Given the description of an element on the screen output the (x, y) to click on. 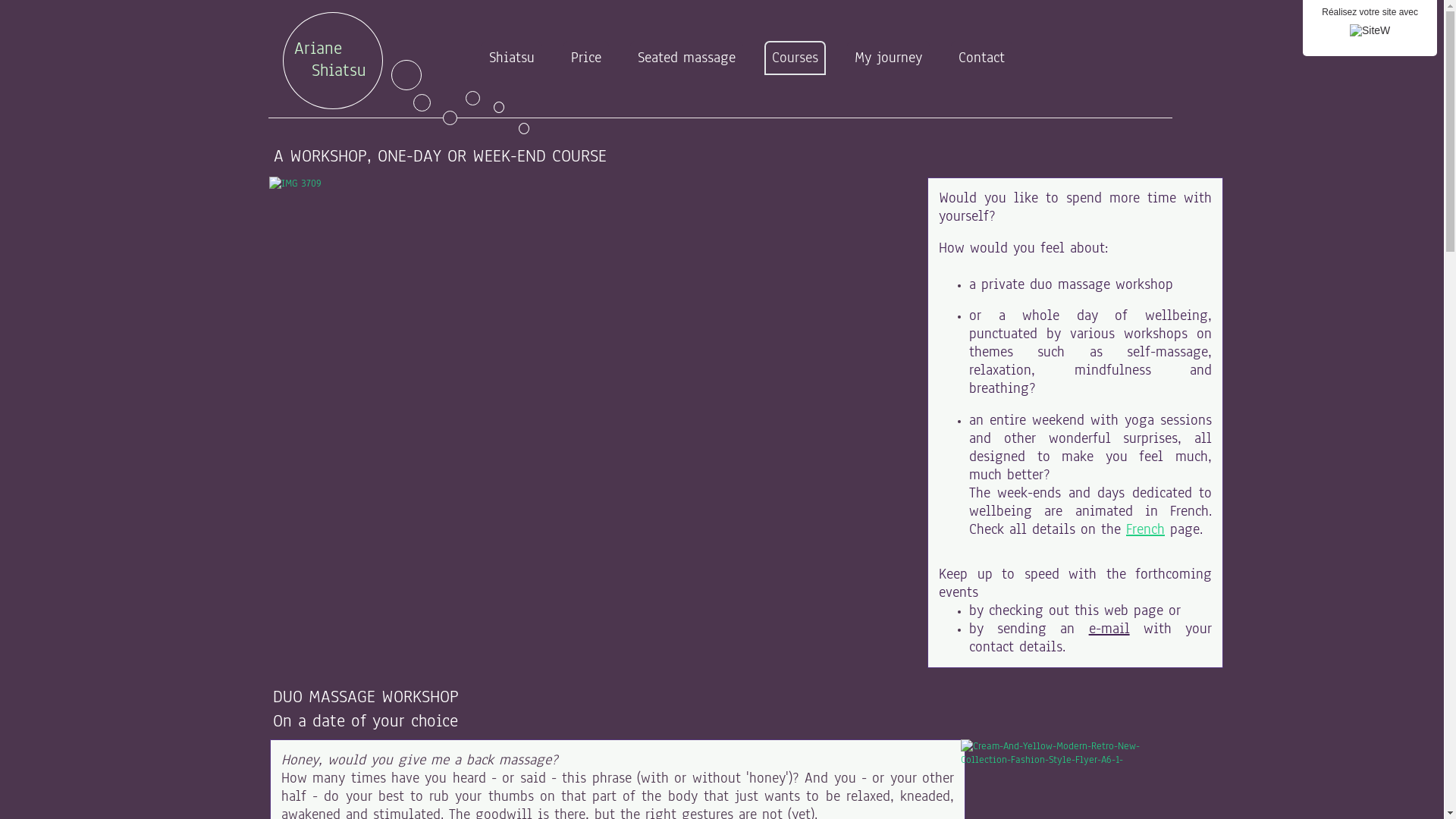
Courses Element type: text (794, 57)
Shiatsu Element type: text (511, 57)
Seated massage Element type: text (686, 57)
Homepage Element type: hover (1142, 86)
French Element type: text (1145, 529)
e-mail Element type: text (1108, 628)
Price Element type: text (585, 57)
My journey Element type: text (888, 57)
Contact Element type: text (981, 57)
